Given the description of an element on the screen output the (x, y) to click on. 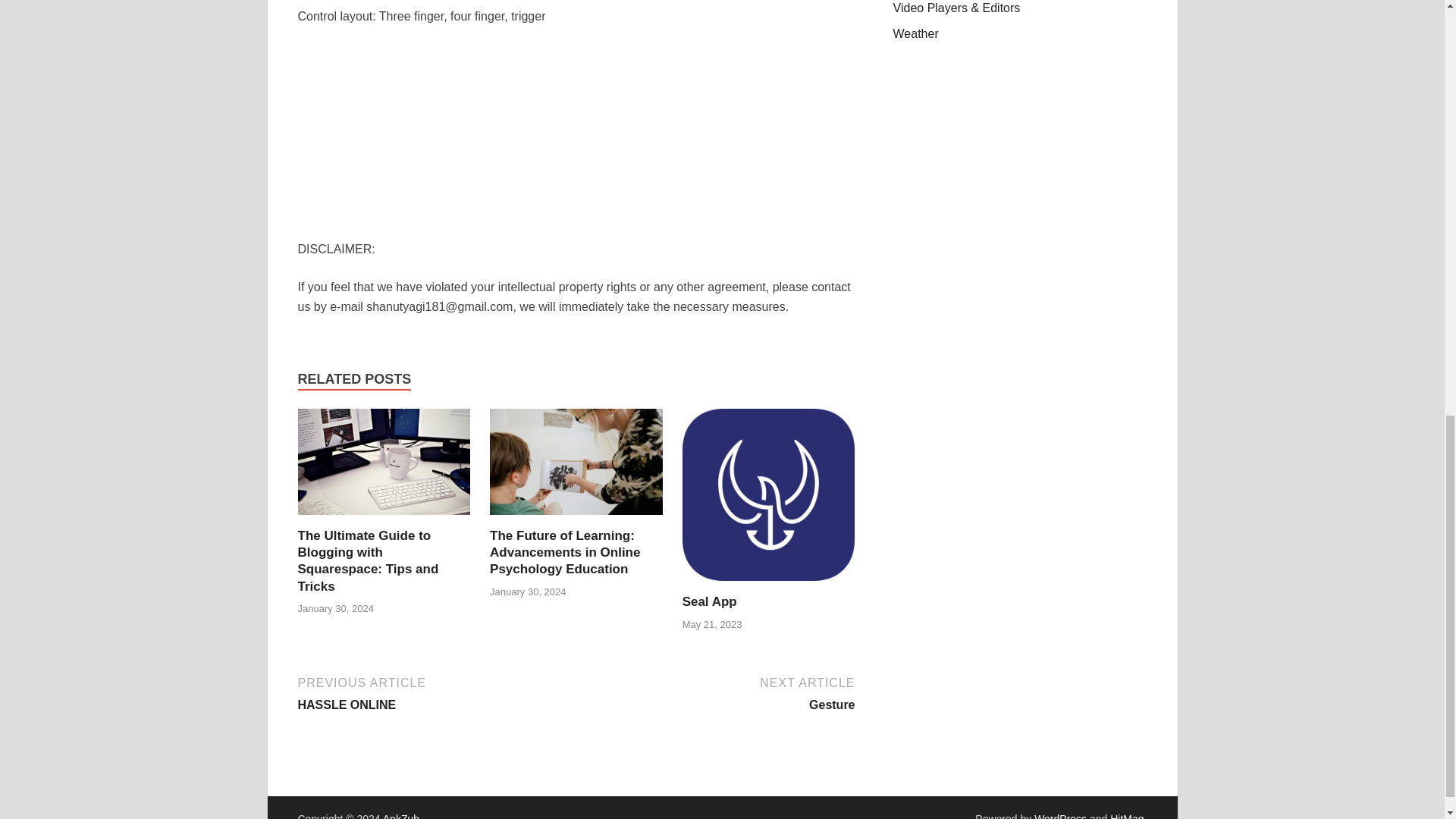
Seal App (709, 601)
Seal App (709, 601)
Seal App (769, 499)
